Given the description of an element on the screen output the (x, y) to click on. 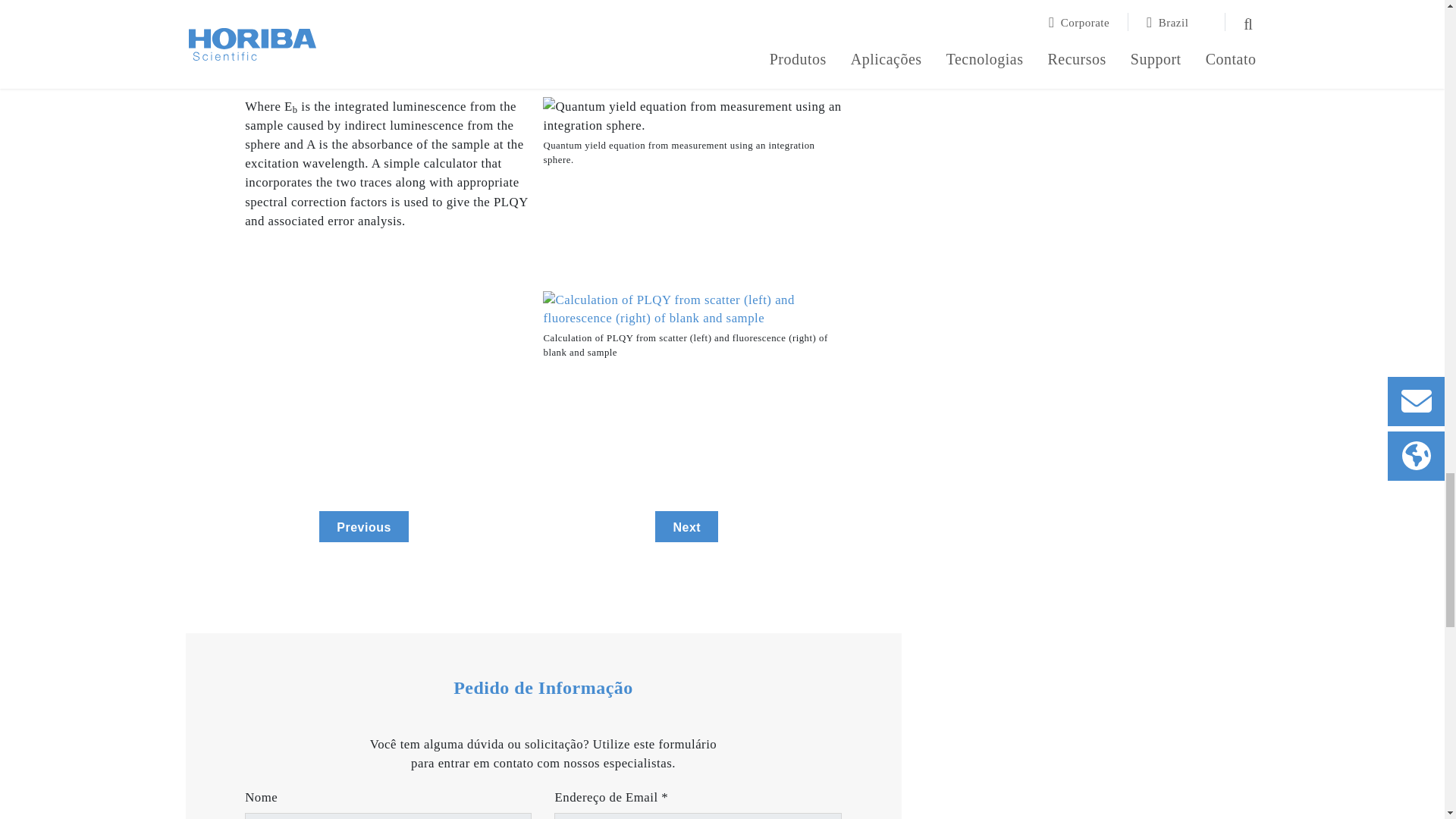
Previous (363, 526)
Next (686, 526)
